Given the description of an element on the screen output the (x, y) to click on. 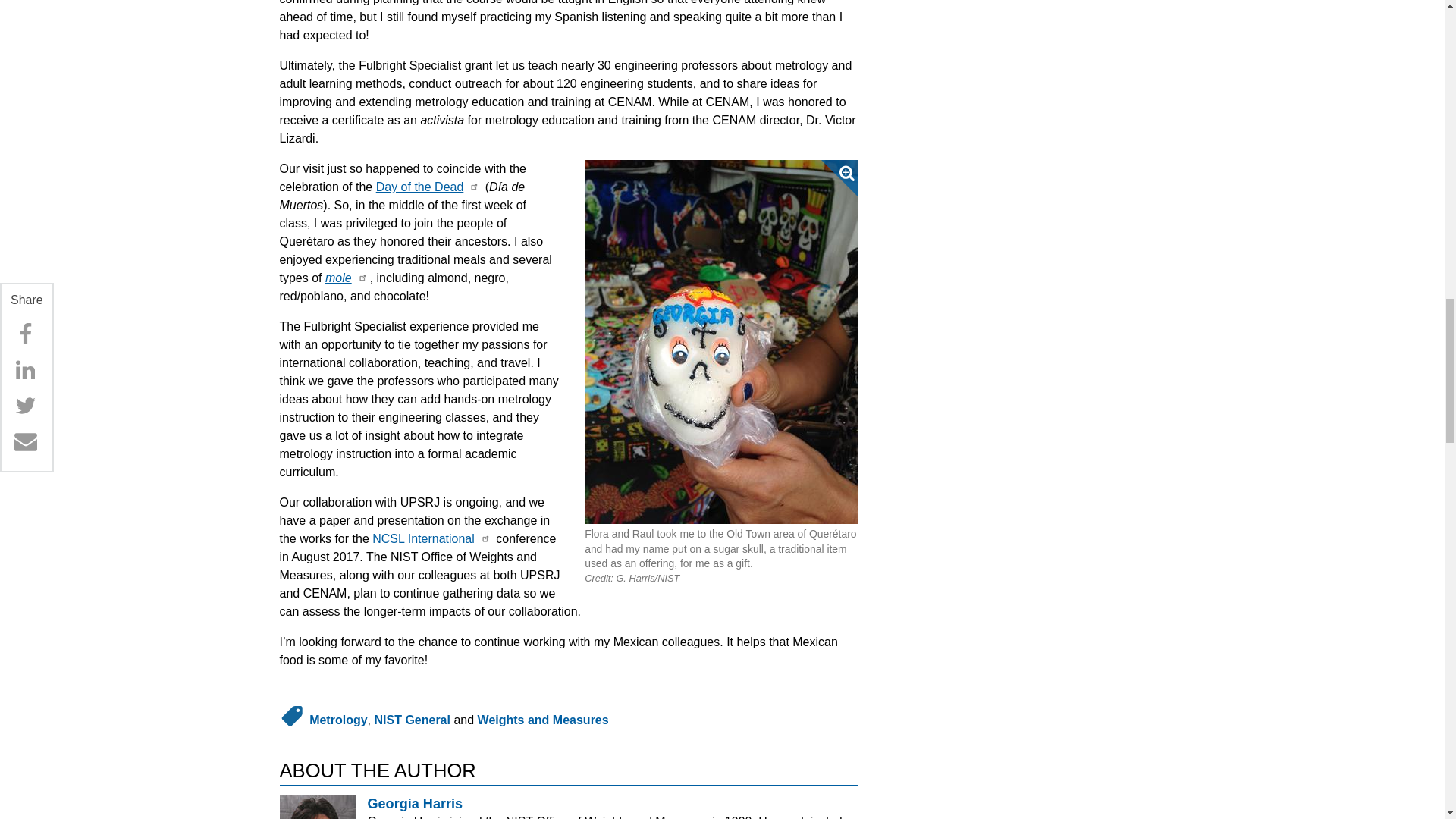
Day of the Dead (419, 186)
NIST General (411, 719)
mole (338, 277)
NCSL International (423, 538)
Metrology (337, 719)
